Given the description of an element on the screen output the (x, y) to click on. 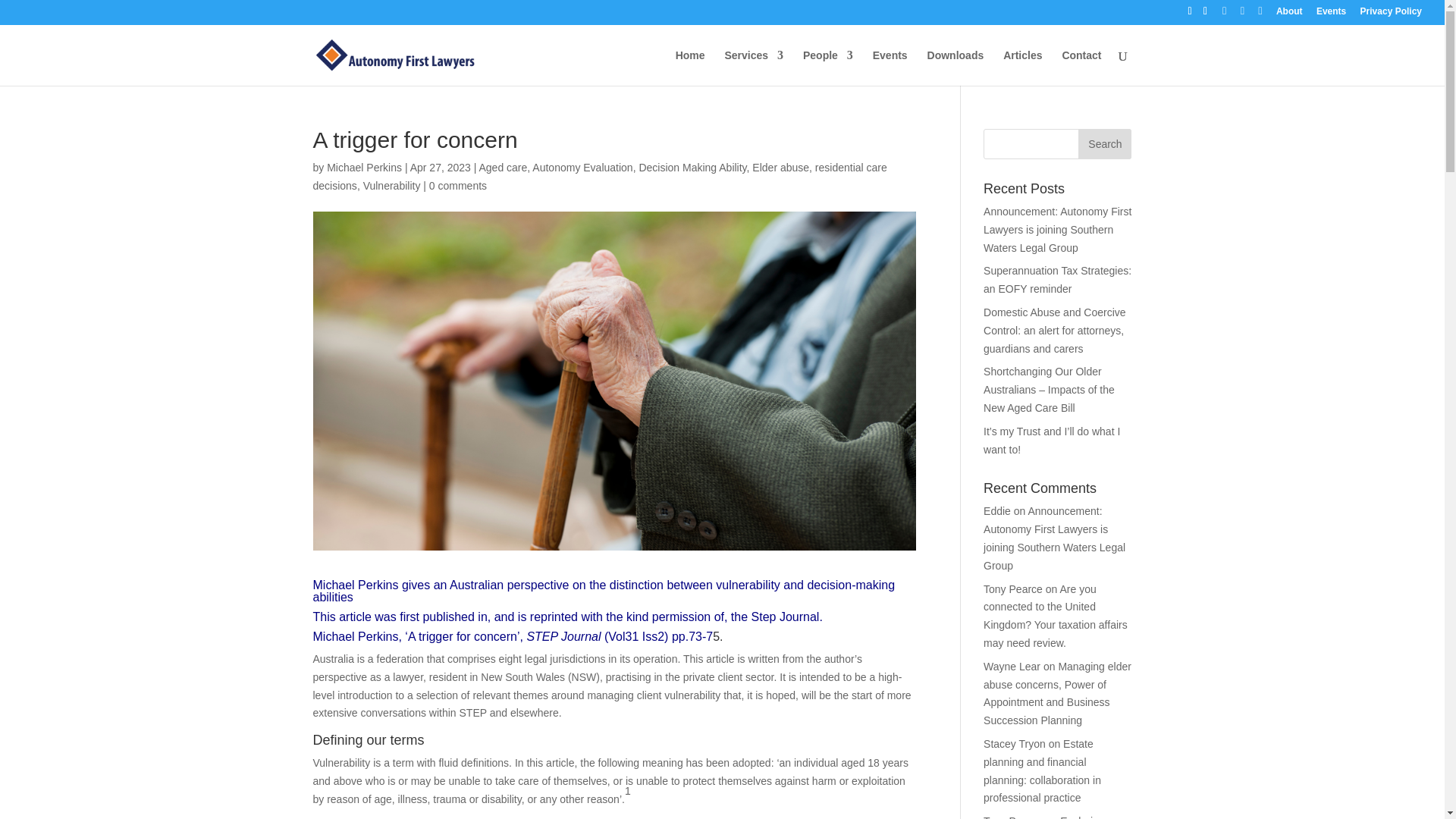
About (1289, 14)
Search (1104, 143)
People (828, 67)
Posts by Michael Perkins (363, 167)
Contact (1080, 67)
Downloads (955, 67)
Events (889, 67)
Services (753, 67)
Articles (1022, 67)
Events (1330, 14)
Privacy Policy (1390, 14)
